Given the description of an element on the screen output the (x, y) to click on. 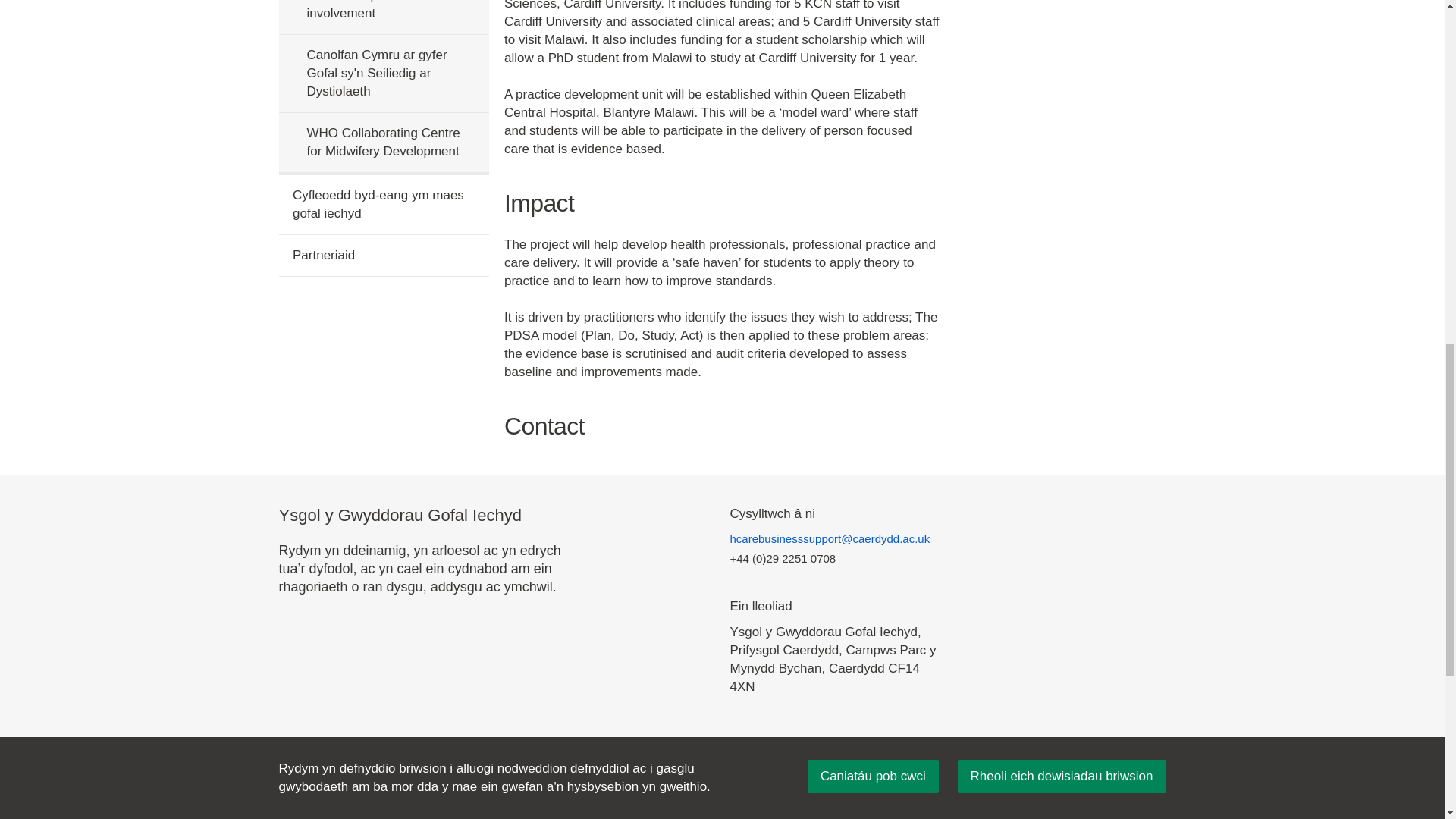
facebook (1034, 802)
twitter no background icon (1074, 802)
instagram (1113, 802)
Youtube (1153, 802)
